Given the description of an element on the screen output the (x, y) to click on. 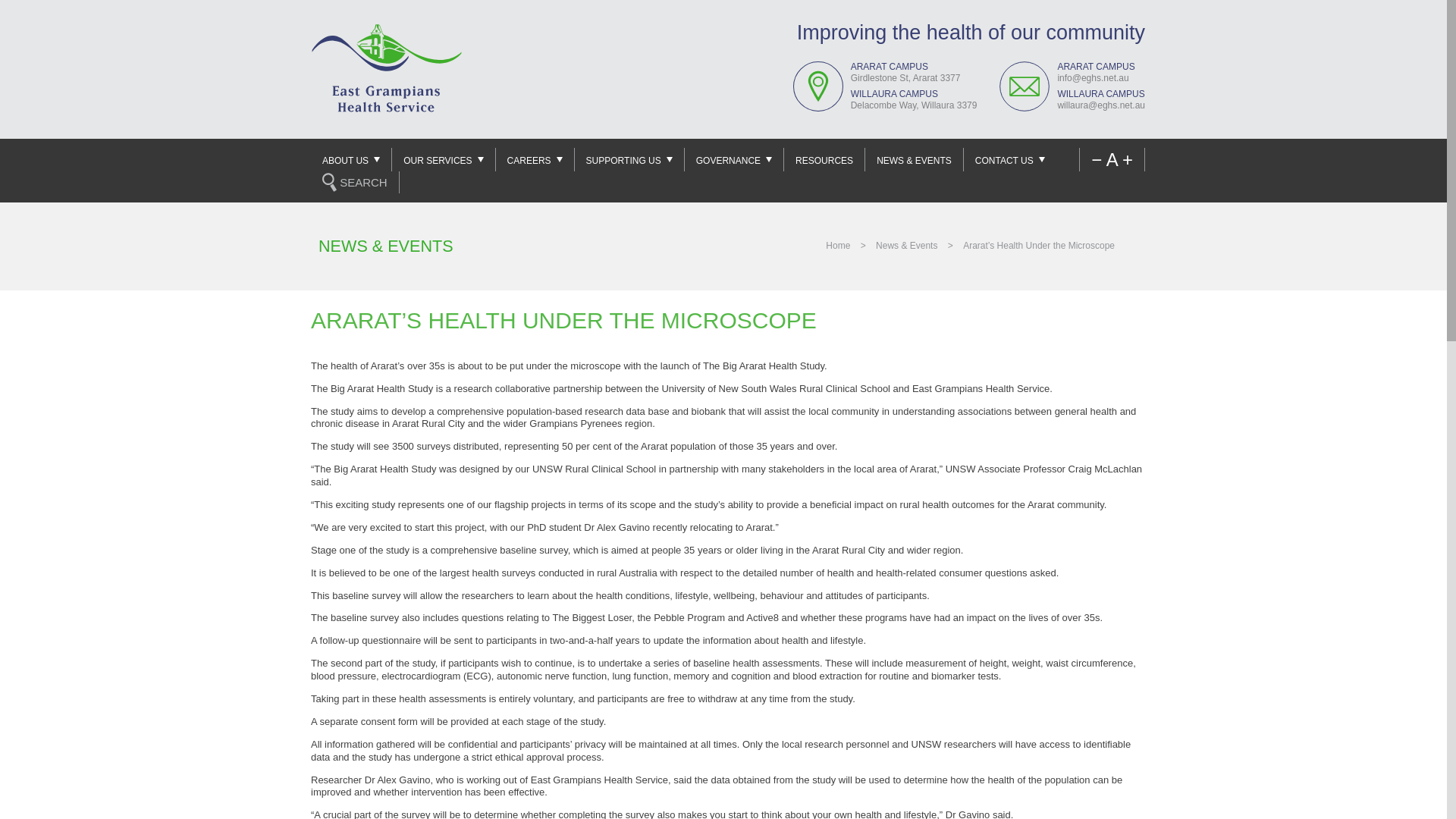
OUR SERVICES (443, 159)
ABOUT US (351, 159)
